Given the description of an element on the screen output the (x, y) to click on. 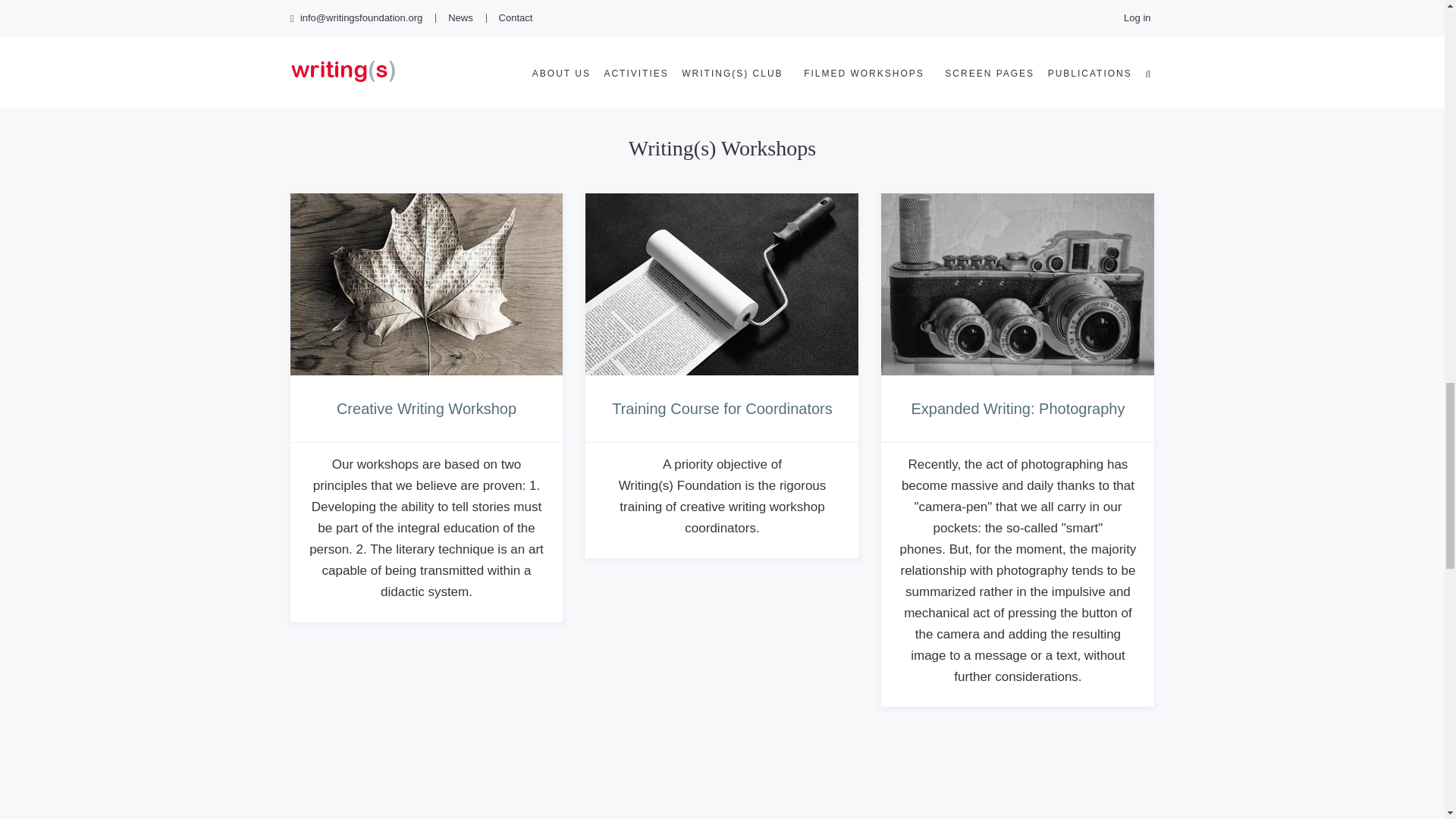
Chema Madoz (722, 284)
Expanded Writing: Photography (1017, 408)
Creative Writing Workshop (426, 408)
Training Course for Coordinators (721, 408)
